Given the description of an element on the screen output the (x, y) to click on. 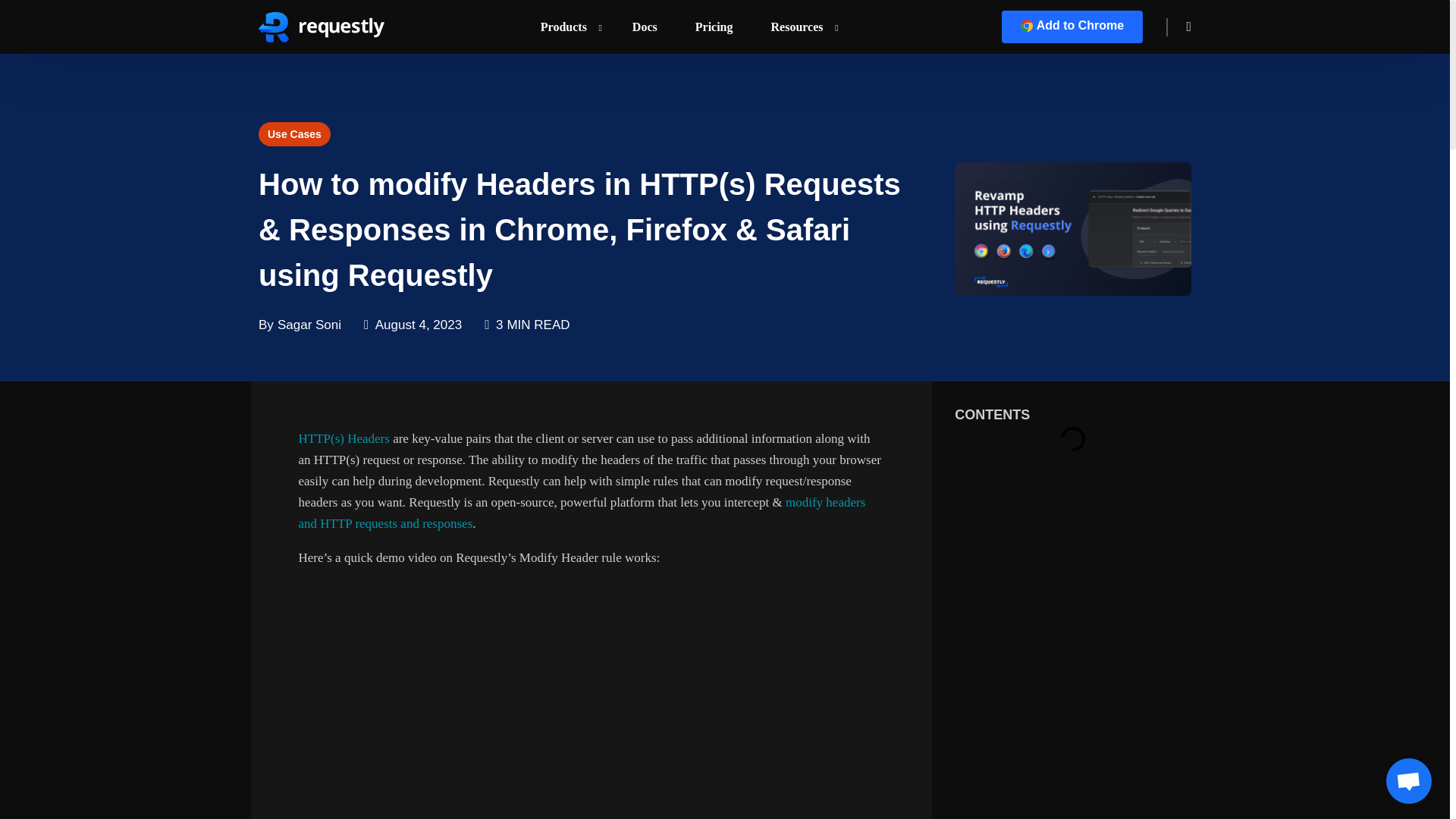
Add to Chrome (1071, 26)
Docs (644, 27)
modify headers and HTTP requests and responses (582, 512)
MH - Requestly (1073, 228)
Resources (801, 27)
Sagar Soni (309, 324)
Products (566, 27)
Pricing (714, 27)
Use Cases (294, 133)
